Given the description of an element on the screen output the (x, y) to click on. 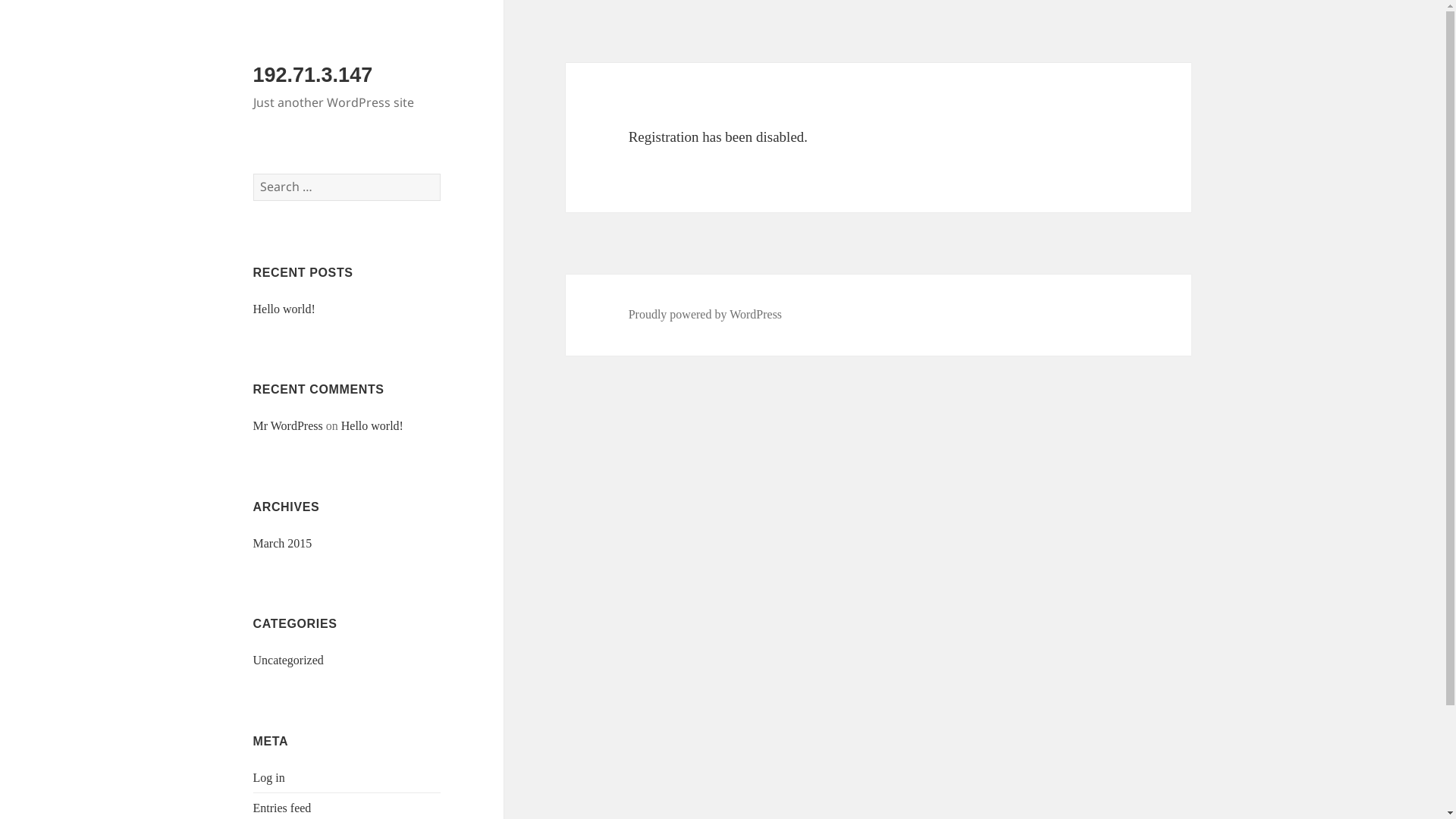
192.71.3.147 Element type: text (313, 74)
Proudly powered by WordPress Element type: text (704, 314)
Hello world! Element type: text (284, 308)
Log in Element type: text (269, 777)
March 2015 Element type: text (282, 542)
Search Element type: text (439, 172)
Mr WordPress Element type: text (288, 425)
Hello world! Element type: text (372, 425)
Entries feed Element type: text (282, 807)
Uncategorized Element type: text (288, 659)
